Given the description of an element on the screen output the (x, y) to click on. 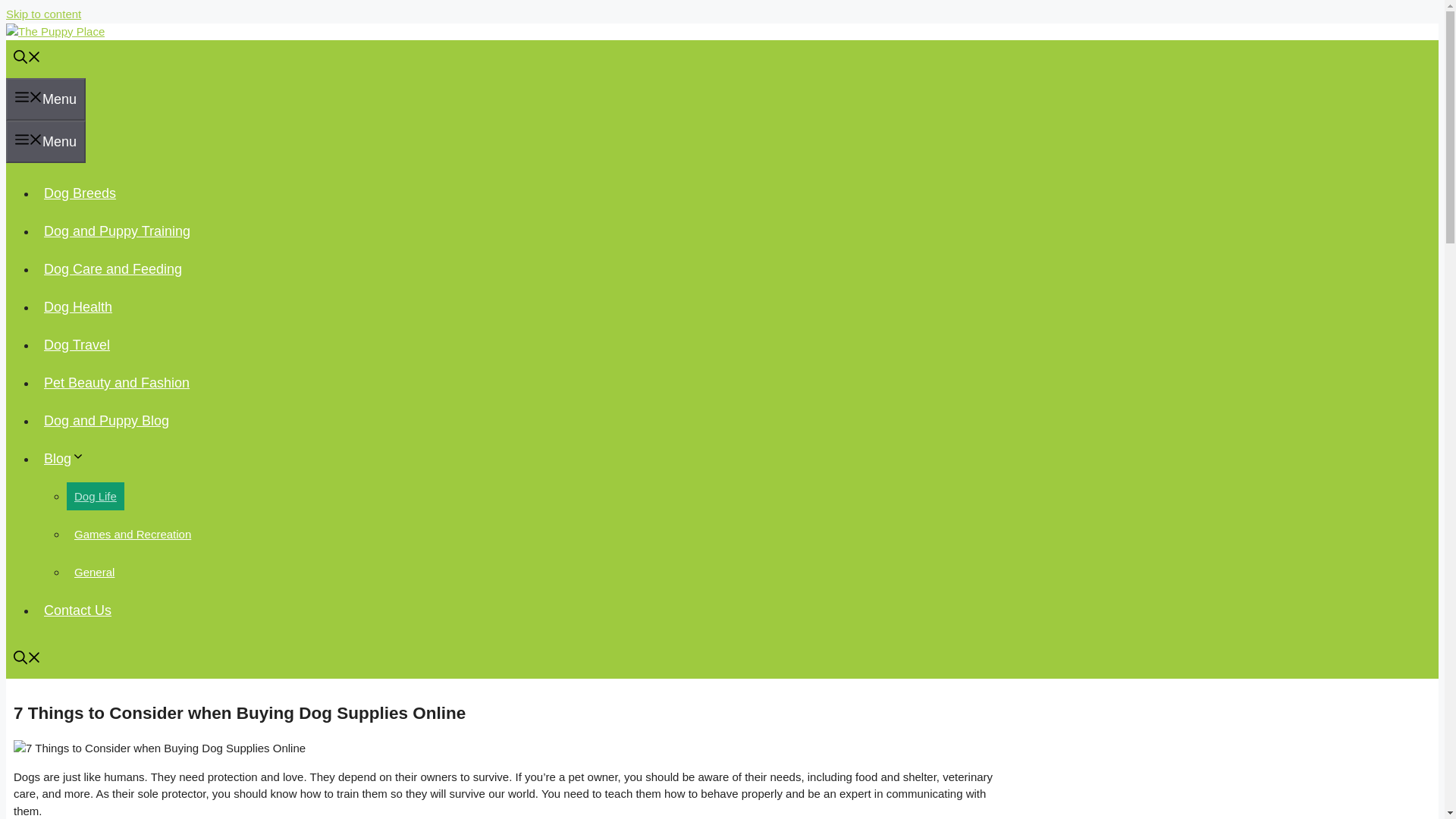
Dog Life (94, 496)
Menu (45, 141)
Pet Beauty and Fashion (116, 382)
Skip to content (43, 13)
Dog Travel (76, 344)
Games and Recreation (132, 533)
Dog Care and Feeding (112, 268)
Contact Us (77, 610)
Blog (68, 458)
Dog and Puppy Training (117, 231)
